Given the description of an element on the screen output the (x, y) to click on. 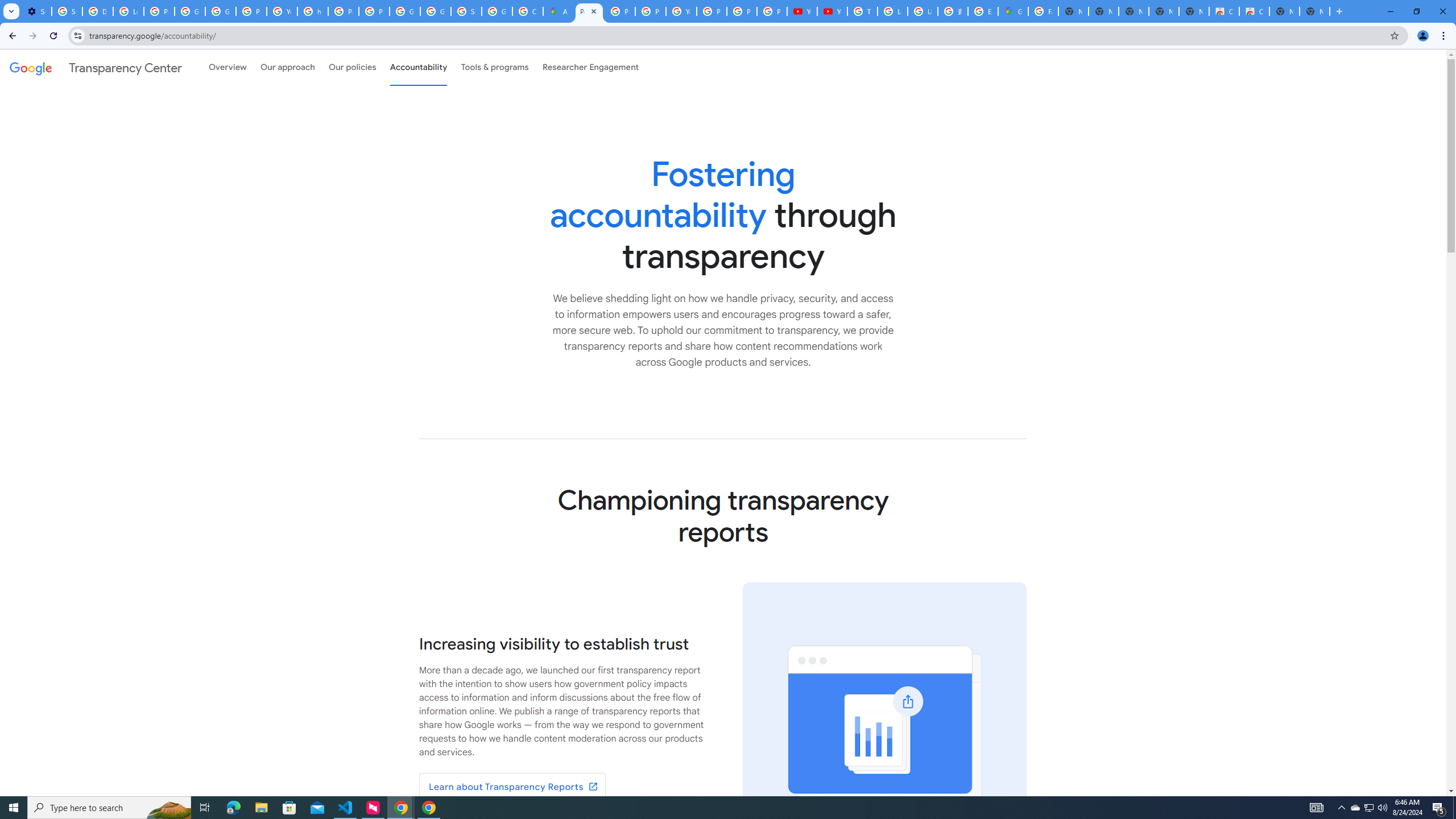
Accountability (418, 67)
Privacy Checkup (741, 11)
Privacy Help Center - Policies Help (650, 11)
